Given the description of an element on the screen output the (x, y) to click on. 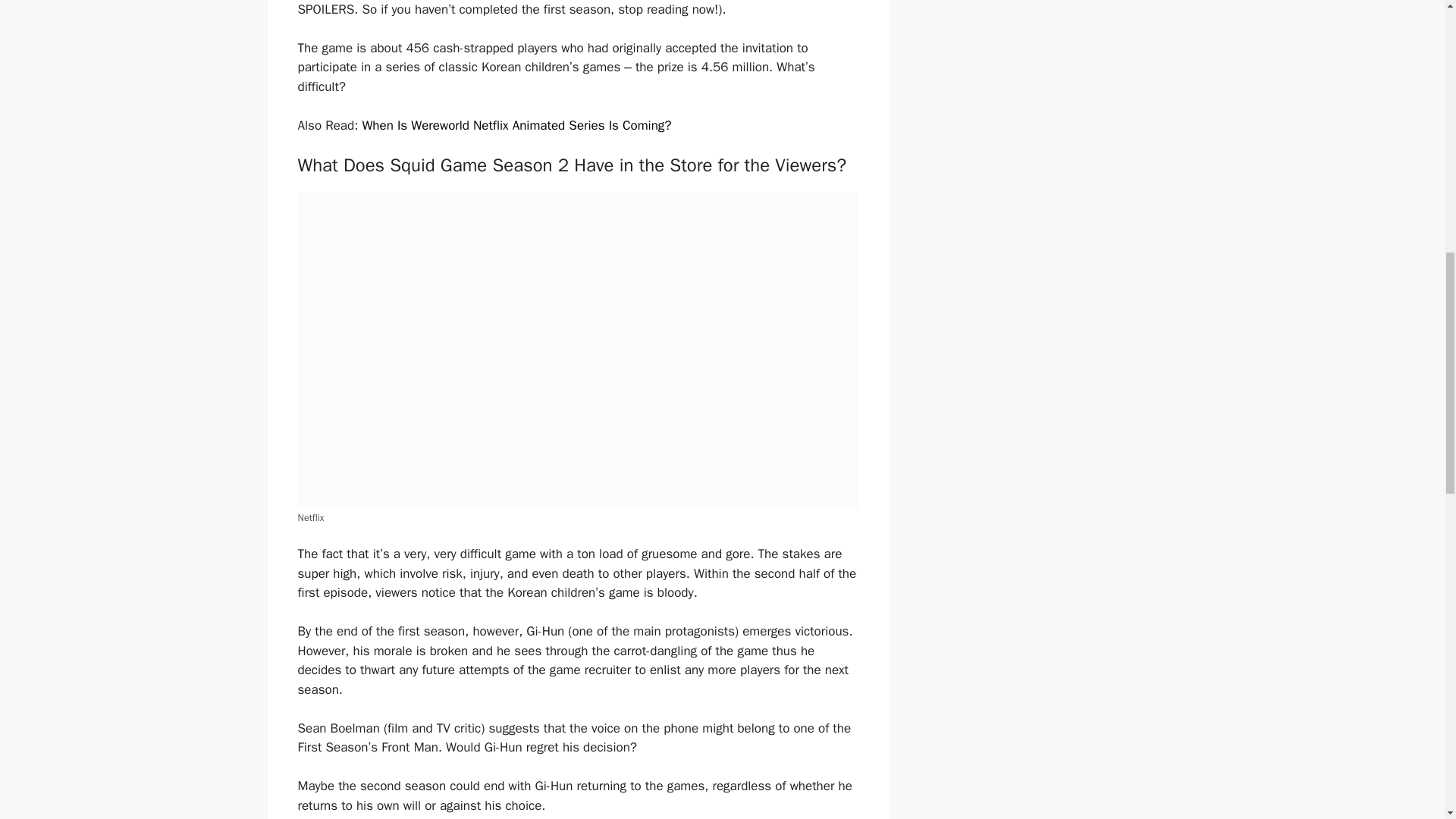
Scroll back to top (1406, 720)
When Is Wereworld Netflix Animated Series Is Coming? (516, 125)
